Given the description of an element on the screen output the (x, y) to click on. 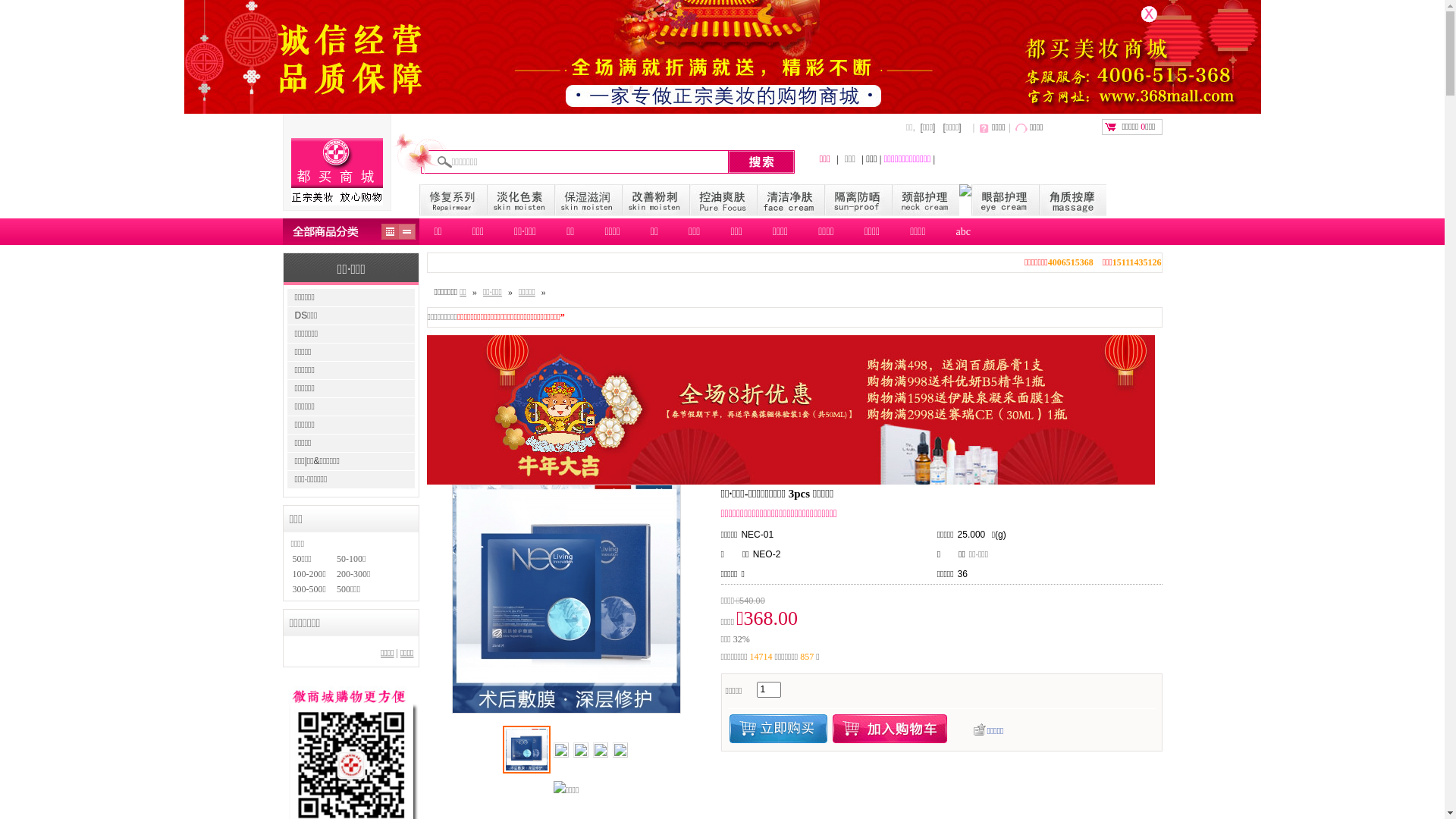
abc Element type: text (963, 231)
